Given the description of an element on the screen output the (x, y) to click on. 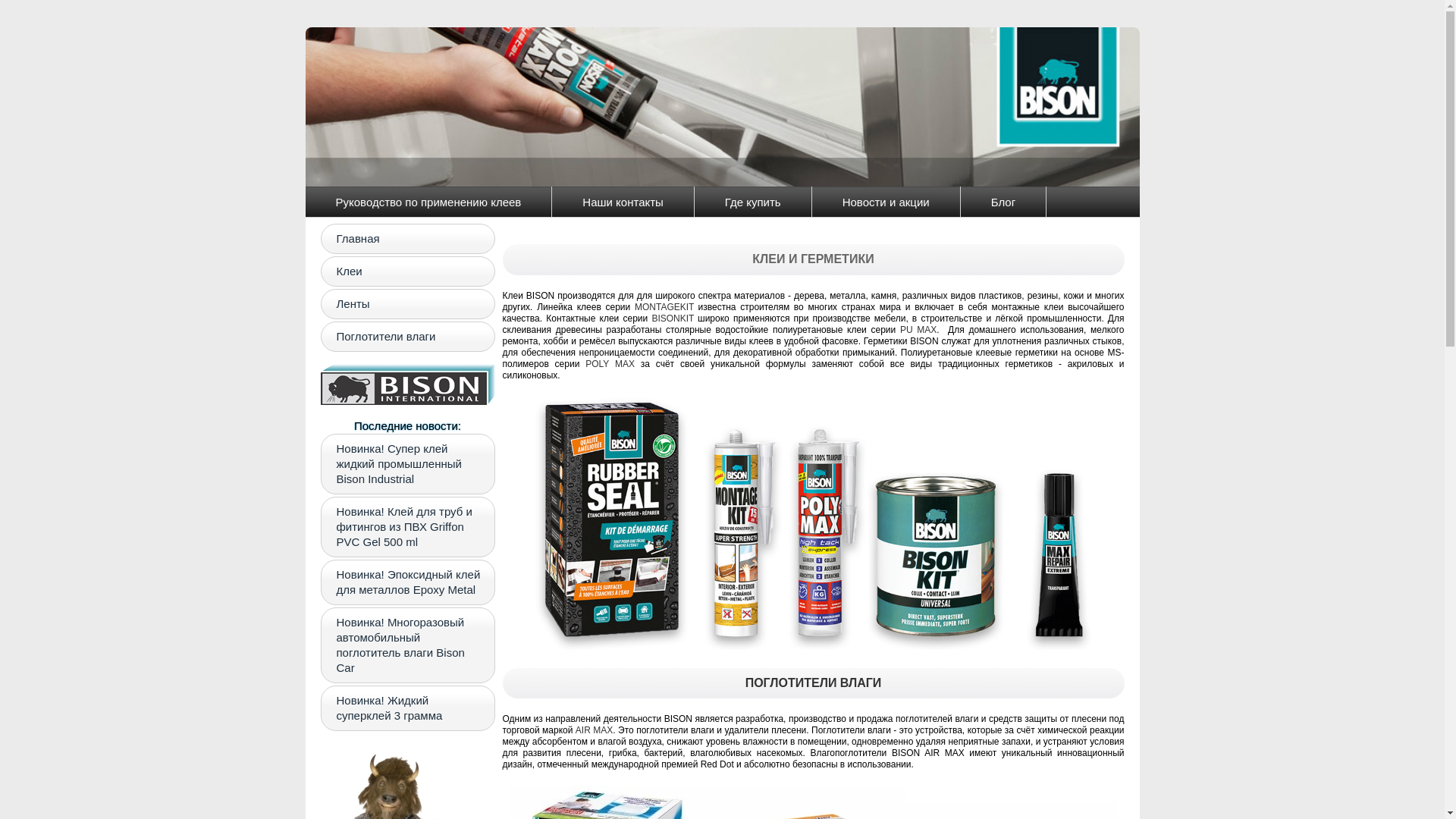
BISONKIT Element type: text (672, 318)
MONTAGEKIT Element type: text (663, 306)
POLY MAX Element type: text (609, 363)
PU MAX Element type: text (918, 329)
AIR MAX Element type: text (593, 729)
